Given the description of an element on the screen output the (x, y) to click on. 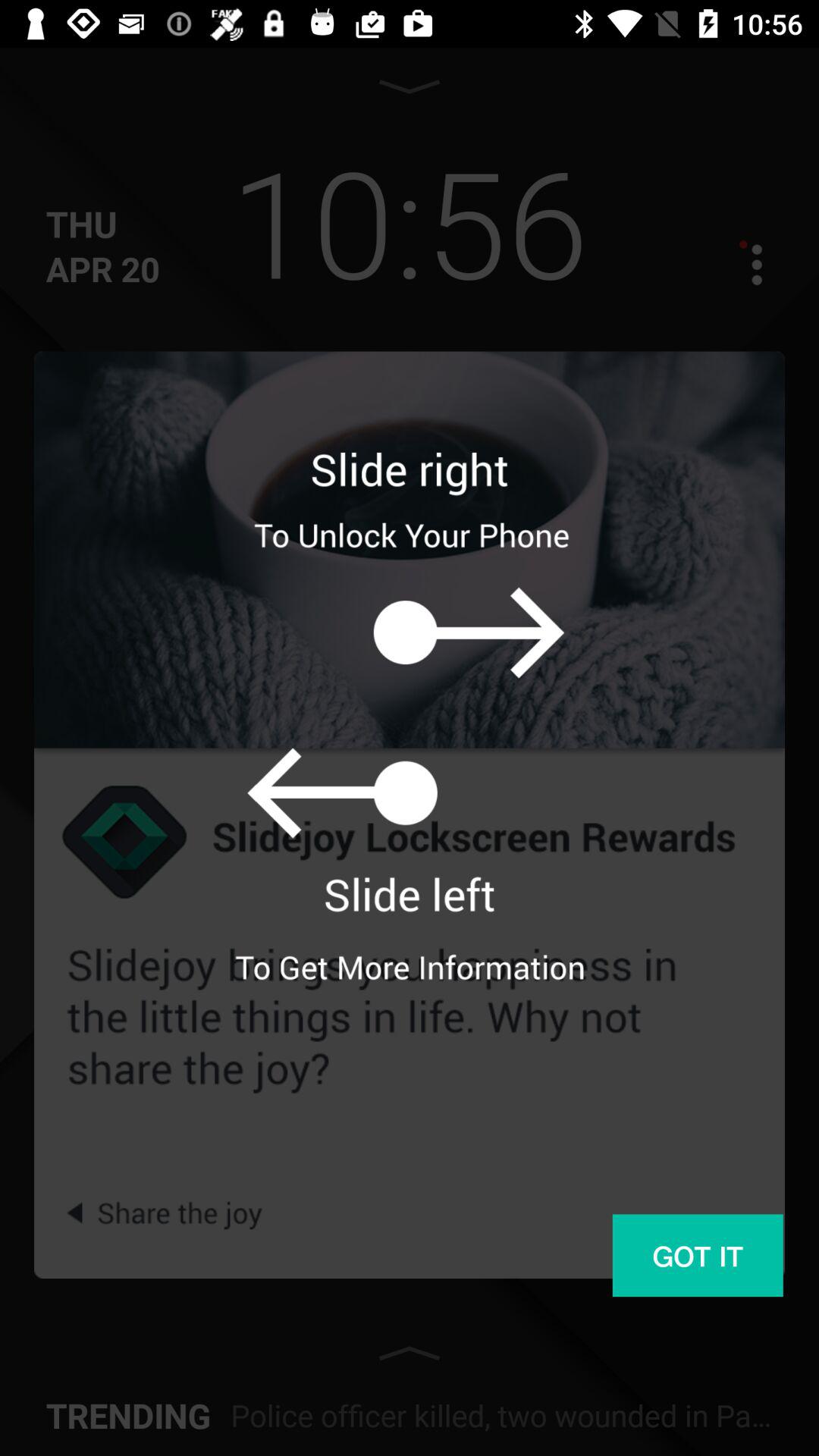
view more options (742, 264)
